Given the description of an element on the screen output the (x, y) to click on. 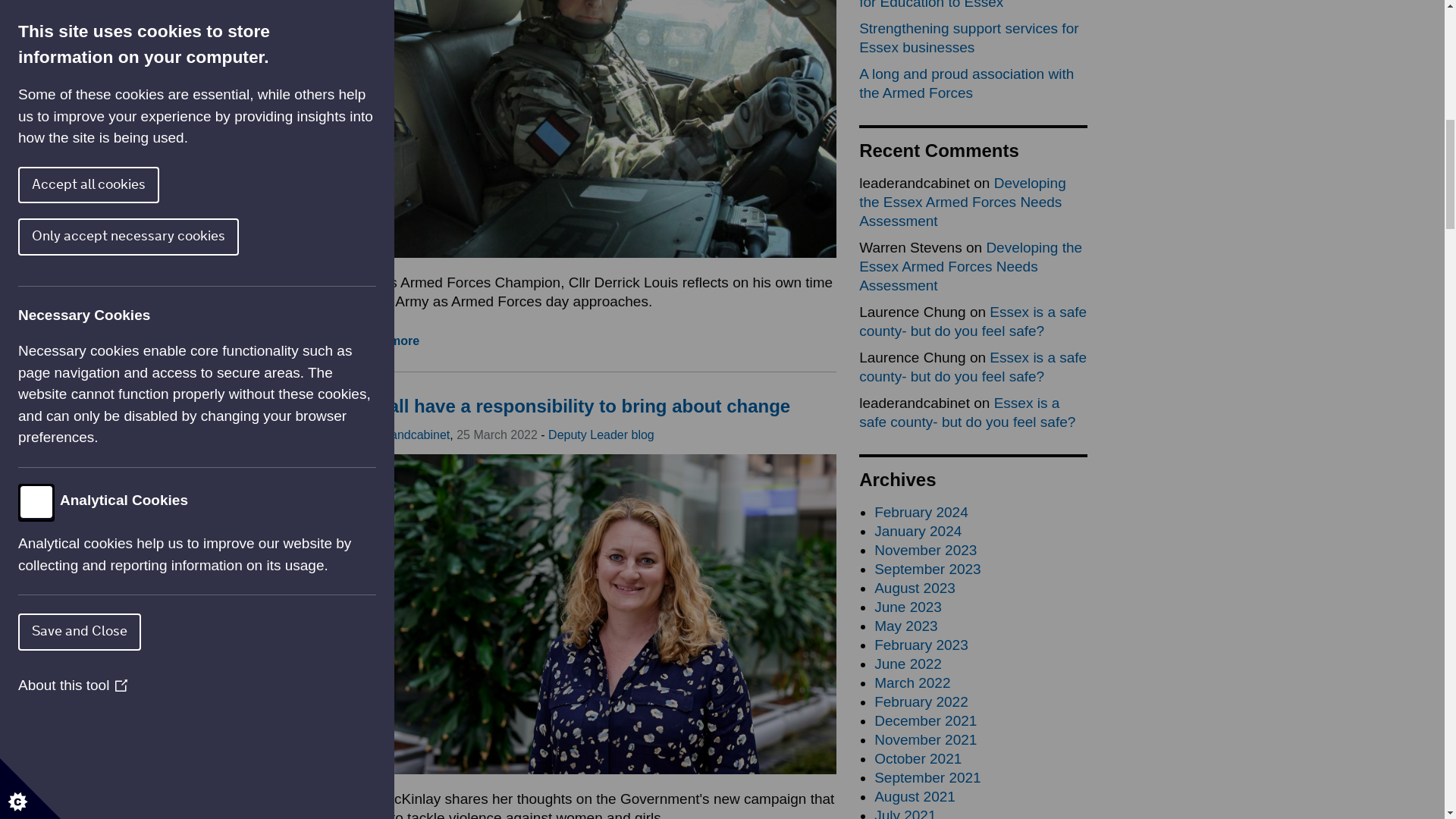
Posts by leaderandcabinet (402, 434)
leaderandcabinet (402, 434)
Deputy Leader blog (600, 434)
Read more (387, 340)
We all have a responsibility to bring about change (573, 405)
